Given the description of an element on the screen output the (x, y) to click on. 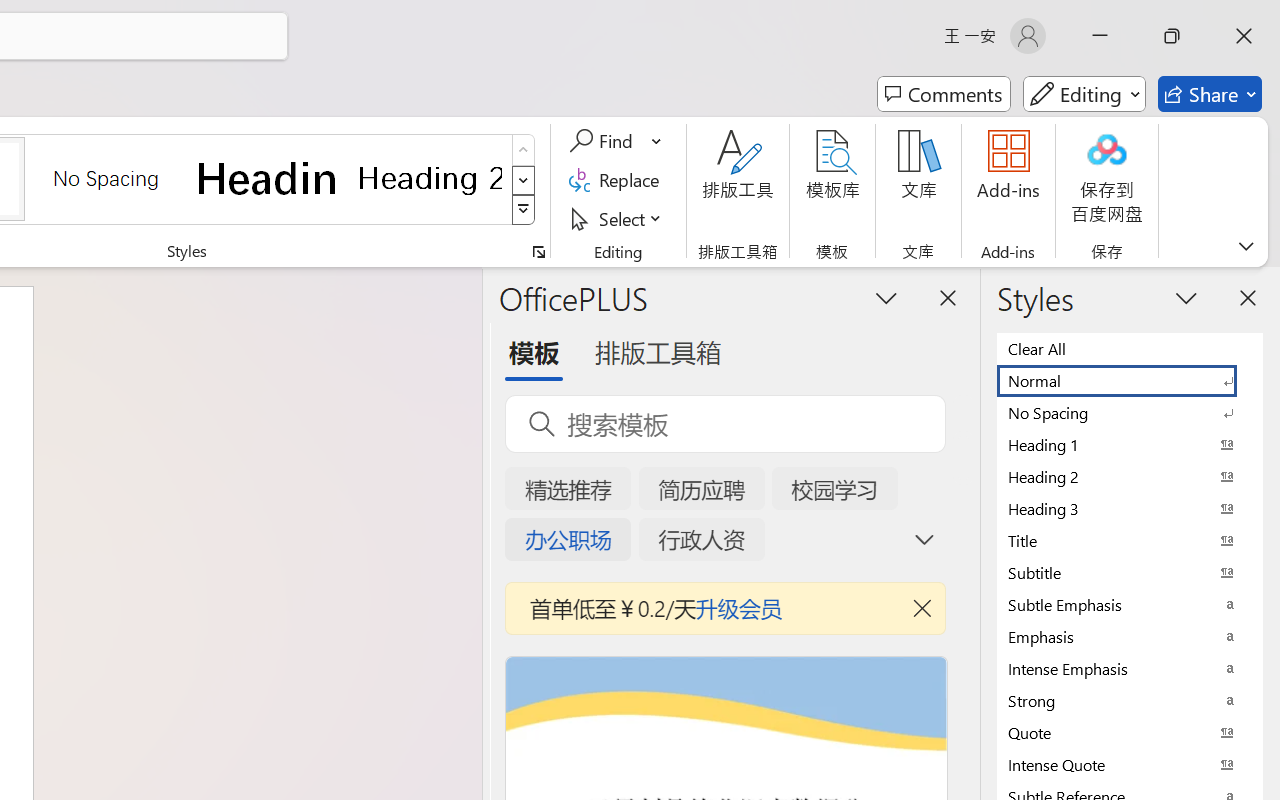
Clear All (1130, 348)
Heading 2 (429, 178)
Minimize (1099, 36)
Comments (943, 94)
Select (618, 218)
No Spacing (1130, 412)
Row Down (523, 180)
Mode (1083, 94)
